Given the description of an element on the screen output the (x, y) to click on. 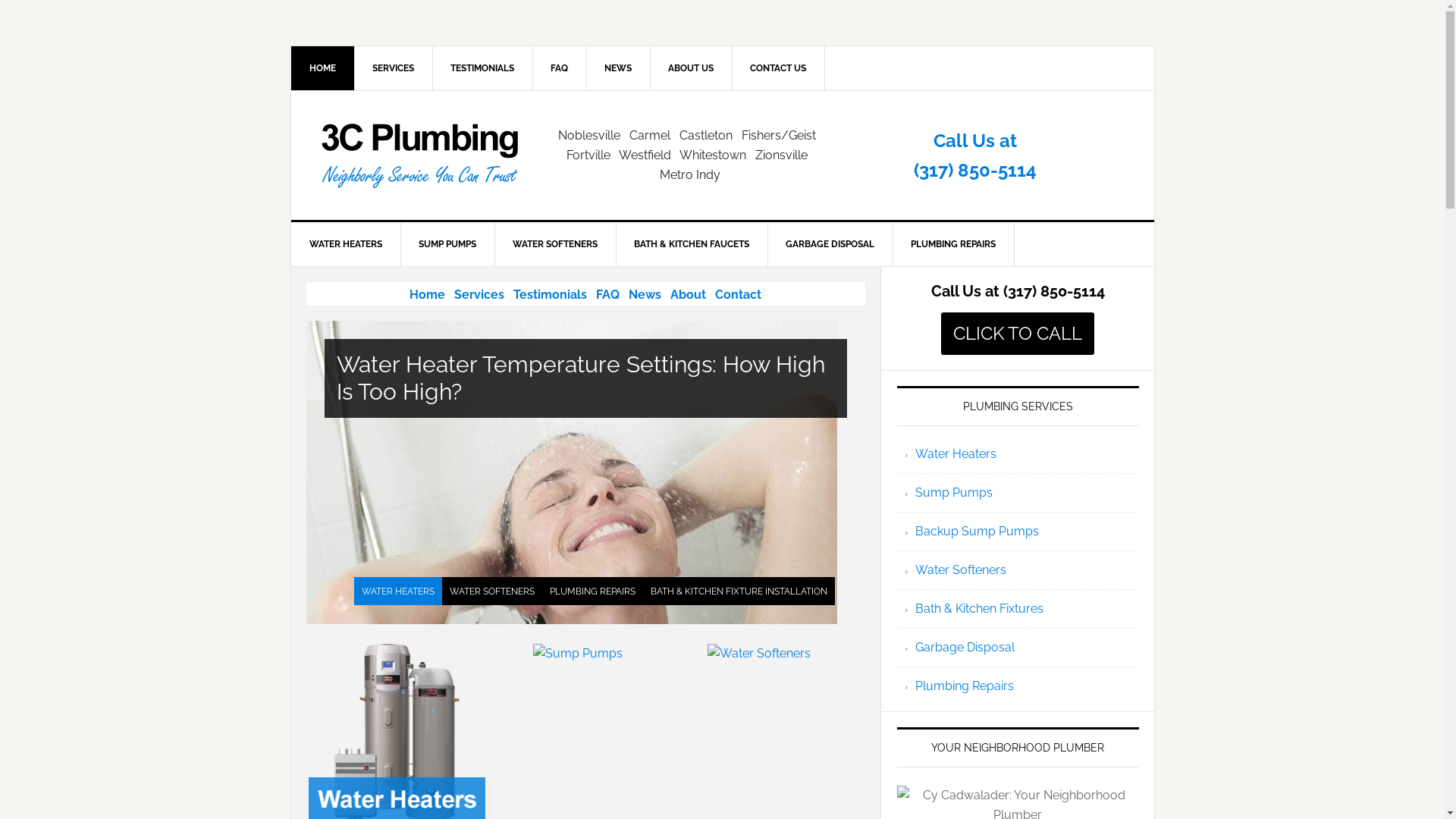
Zionsville Element type: text (781, 154)
NEWS Element type: text (617, 68)
Contact Element type: text (738, 294)
Bath & Kitchen Fixtures Element type: text (978, 608)
PLUMBING REPAIRS Element type: text (952, 244)
PLUMBING REPAIRS Element type: text (591, 590)
Water Softeners Element type: hover (758, 653)
Westfield Element type: text (644, 154)
Metro Indy Element type: text (689, 174)
Services Element type: text (479, 294)
WATER HEATERS Element type: text (346, 244)
BATH & KITCHEN FIXTURE INSTALLATION Element type: text (738, 590)
FAQ Element type: text (559, 68)
CONTACT US Element type: text (777, 68)
FAQ Element type: text (607, 294)
Call Us at
(317) 850-5114 Element type: text (974, 155)
Carmel Element type: text (649, 135)
About Element type: text (688, 294)
BATH & KITCHEN FAUCETS Element type: text (691, 244)
Water Softeners Element type: text (959, 569)
Home Element type: text (427, 294)
Whitestown Element type: text (712, 154)
Fishers/Geist Element type: text (778, 135)
Backup Sump Pumps Element type: text (976, 531)
Sump Pumps Element type: text (952, 492)
Plumbing Repairs Element type: text (963, 685)
HOME Element type: text (322, 68)
Water Heater Temperature Settings: How High Is Too High? Element type: text (585, 377)
CLICK TO CALL Element type: text (1017, 333)
WATER SOFTENERS Element type: text (491, 590)
Testimonials Element type: text (549, 294)
Fortville Element type: text (588, 154)
ABOUT US Element type: text (690, 68)
TESTIMONIALS Element type: text (482, 68)
Sump Pumps Element type: hover (577, 653)
Castleton Element type: text (705, 135)
Garbage Disposal Element type: text (963, 647)
Noblesville Element type: text (589, 135)
News Element type: text (644, 294)
WATER HEATERS Element type: text (397, 590)
SERVICES Element type: text (392, 68)
Water Heaters Element type: text (954, 453)
SUMP PUMPS Element type: text (447, 244)
GARBAGE DISPOSAL Element type: text (830, 244)
WATER SOFTENERS Element type: text (555, 244)
Skip to primary navigation Element type: text (0, 0)
